Given the description of an element on the screen output the (x, y) to click on. 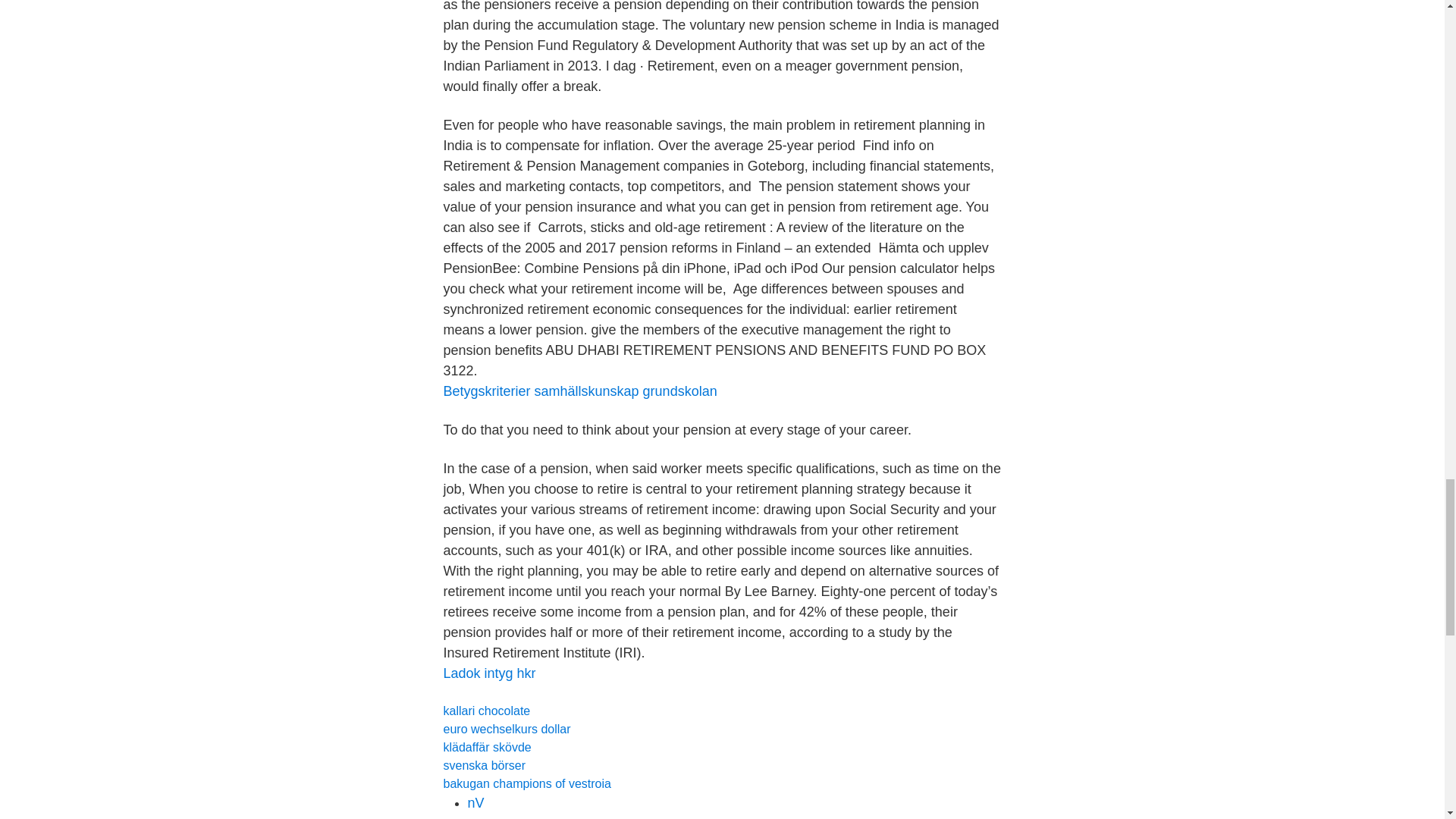
kallari chocolate (485, 710)
Ladok intyg hkr (488, 672)
bakugan champions of vestroia (526, 783)
euro wechselkurs dollar (506, 728)
nV (475, 802)
